Given the description of an element on the screen output the (x, y) to click on. 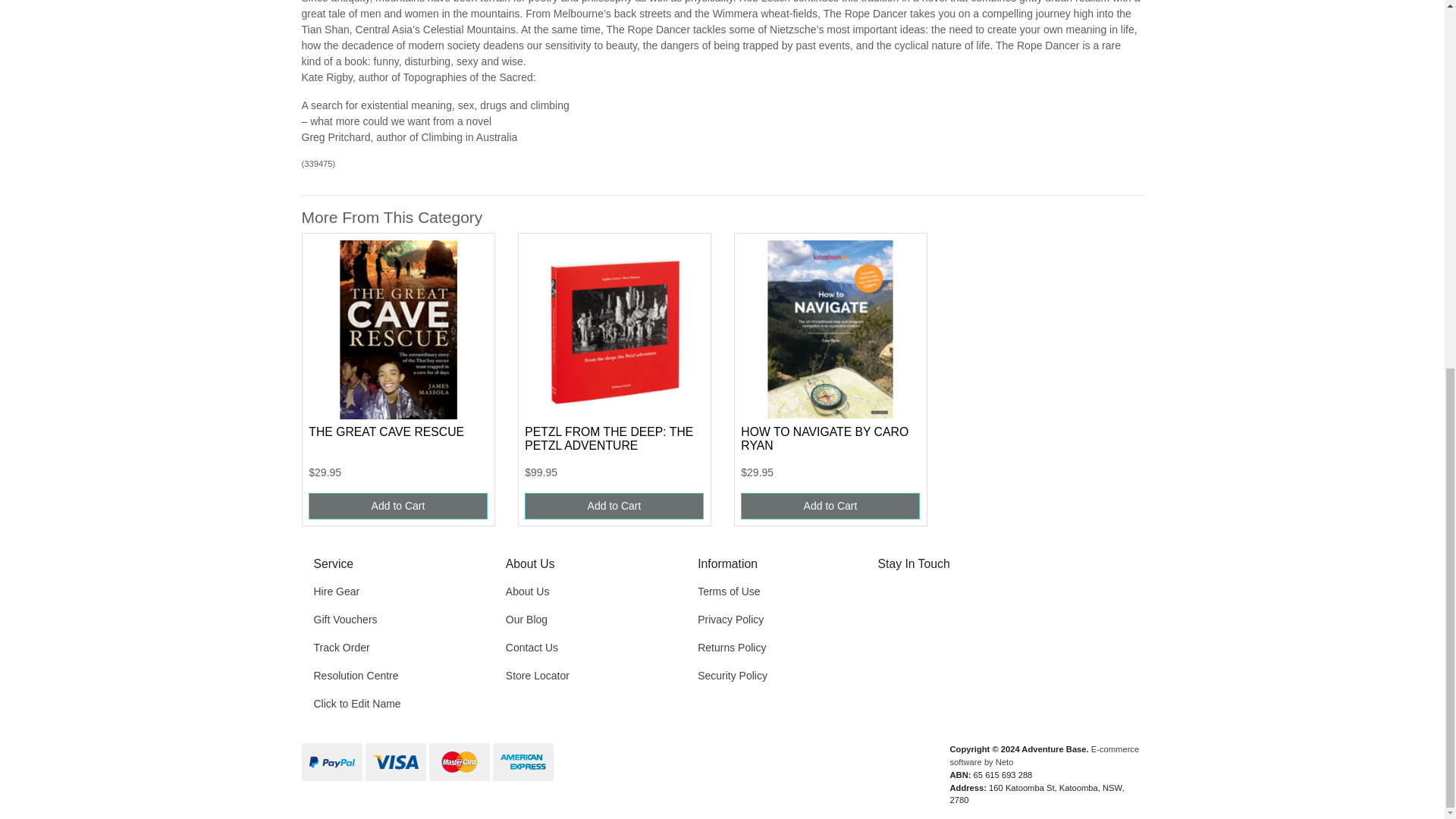
Add THE GREAT CAVE RESCUE to Cart (397, 506)
Add PETZL FROM THE DEEP: THE PETZL ADVENTURE to Cart (613, 506)
Add HOW TO NAVIGATE BY CARO RYAN to Cart (829, 506)
Neto E-commerce Retail Management Platform (1043, 755)
